Given the description of an element on the screen output the (x, y) to click on. 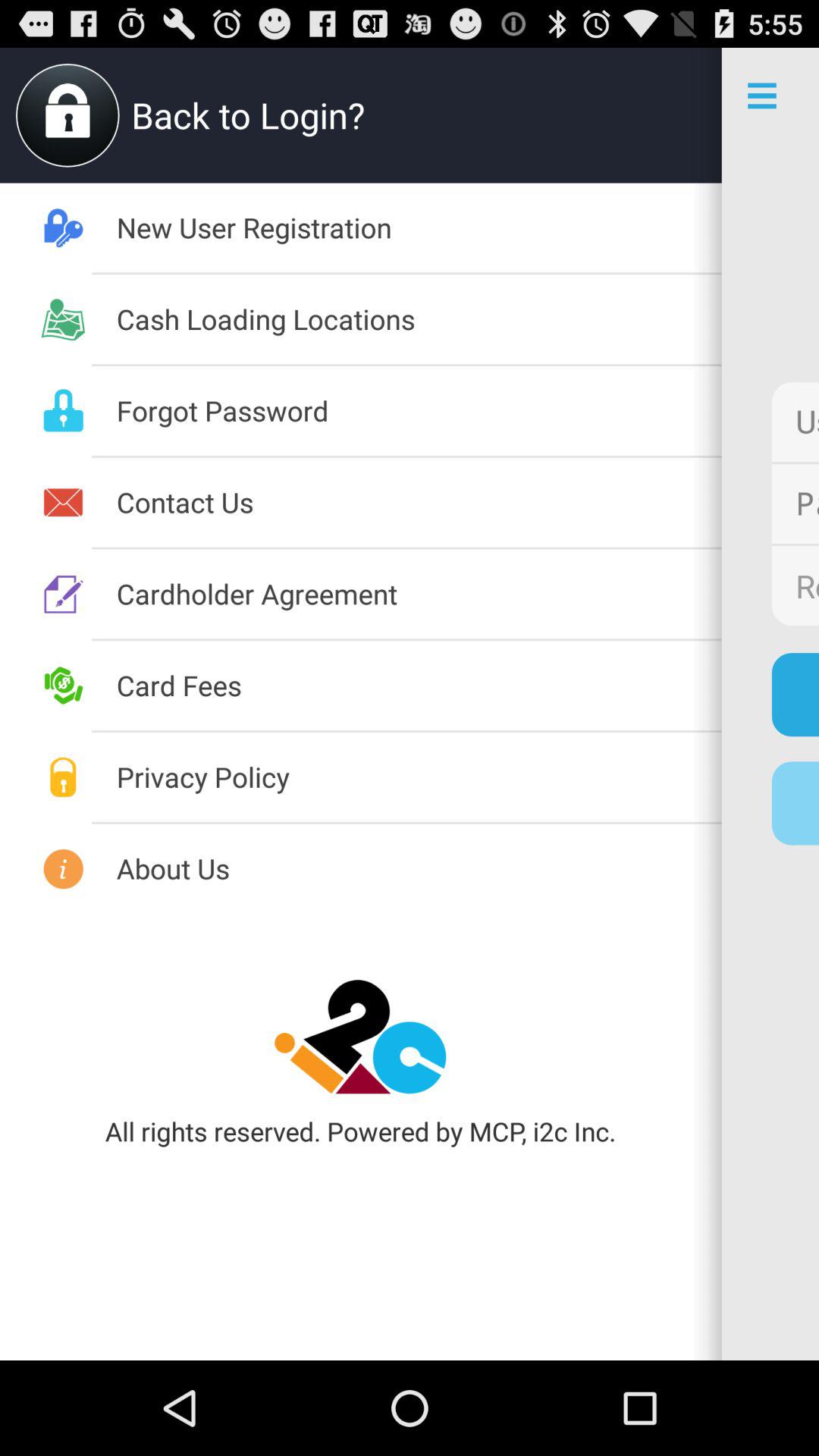
select the item to the right of the forgot password (795, 421)
